Given the description of an element on the screen output the (x, y) to click on. 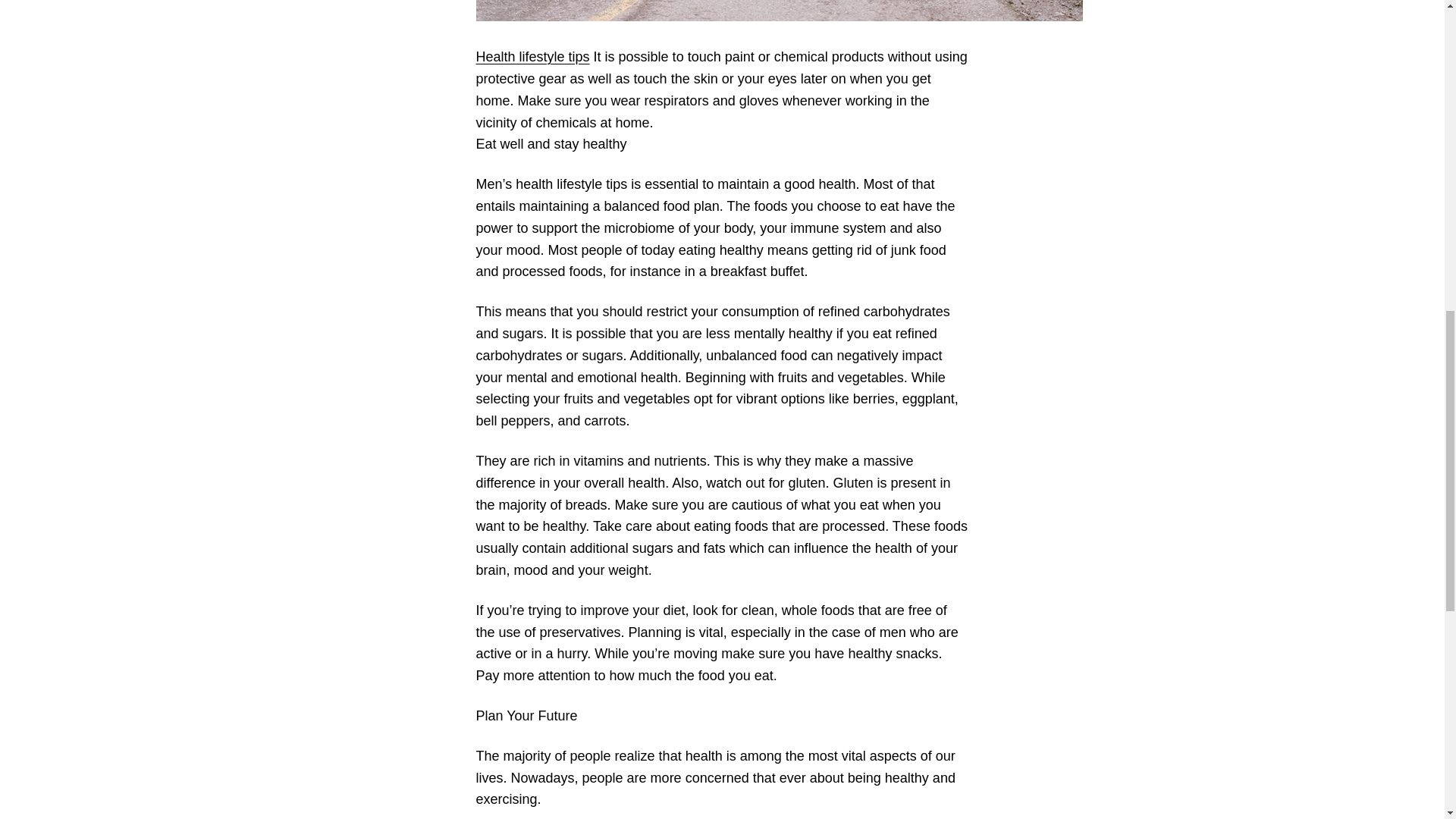
Health lifestyle tips (532, 56)
